Given the description of an element on the screen output the (x, y) to click on. 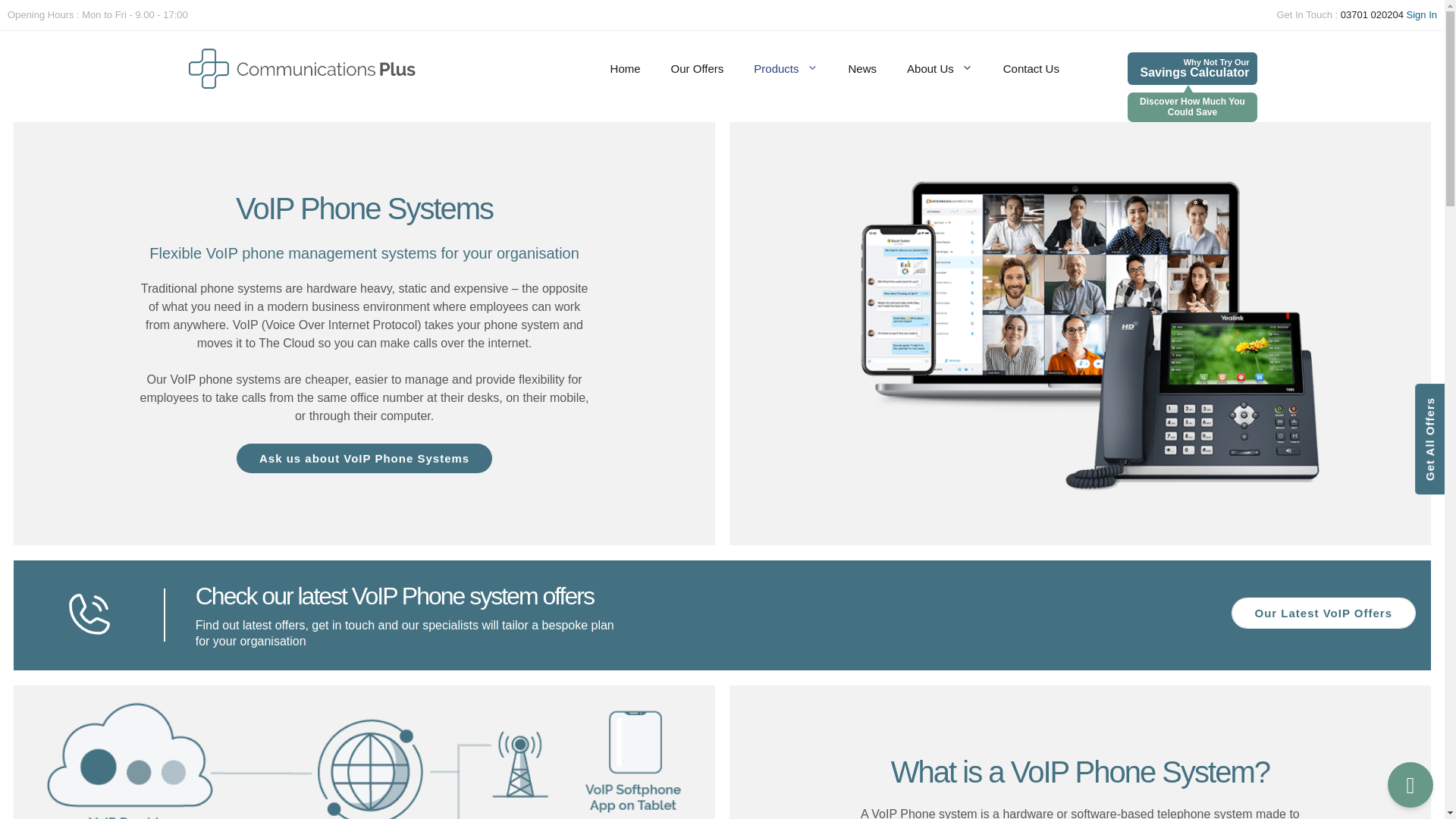
03701 020204 (1373, 14)
Sign In (1421, 14)
Call us! (1373, 14)
